Given the description of an element on the screen output the (x, y) to click on. 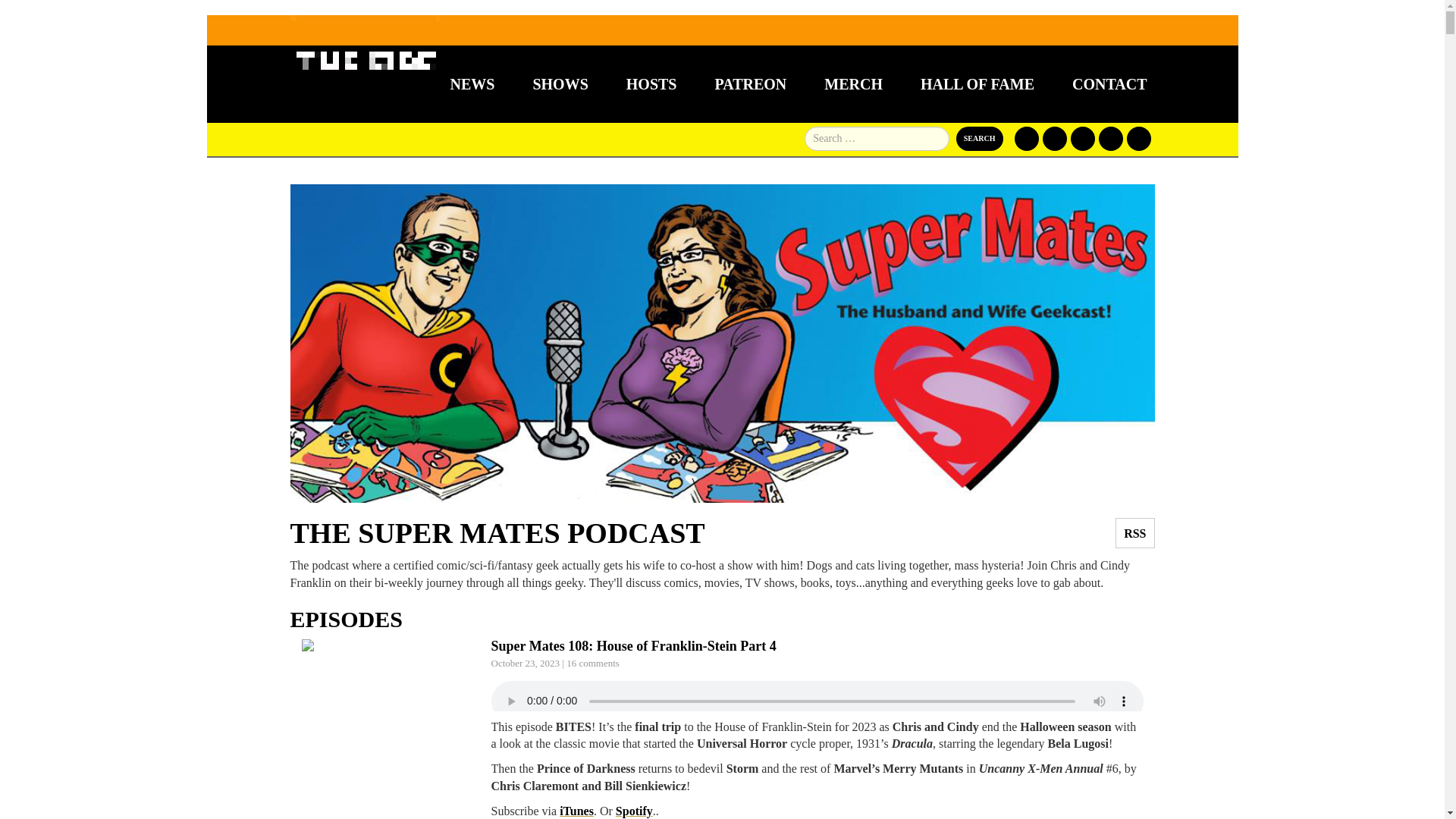
CONTACT (1109, 83)
Search (979, 138)
Search (979, 138)
RSS (1134, 532)
Super Mates 108: House of Franklin-Stein Part 4 (634, 645)
Contact (1109, 83)
Spotify (633, 810)
PATREON (750, 83)
Facebook (1026, 138)
Patreon (1082, 138)
